Given the description of an element on the screen output the (x, y) to click on. 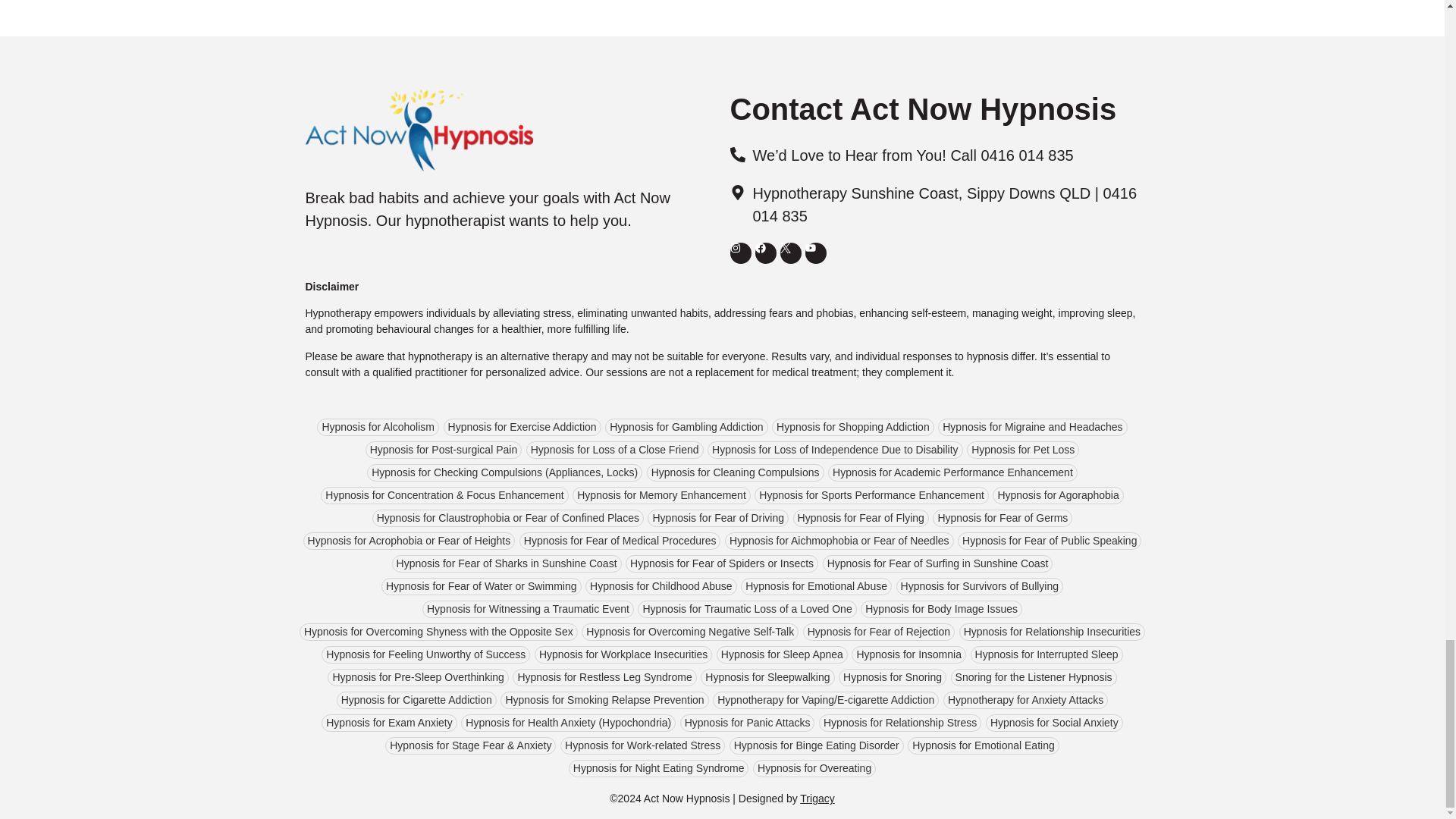
Hypnosis for Exercise Addiction (522, 426)
Hypnosis for Gambling Addiction (686, 426)
Hypnosis for Shopping Addiction (852, 426)
Hypnosis for Alcoholism (378, 426)
